Given the description of an element on the screen output the (x, y) to click on. 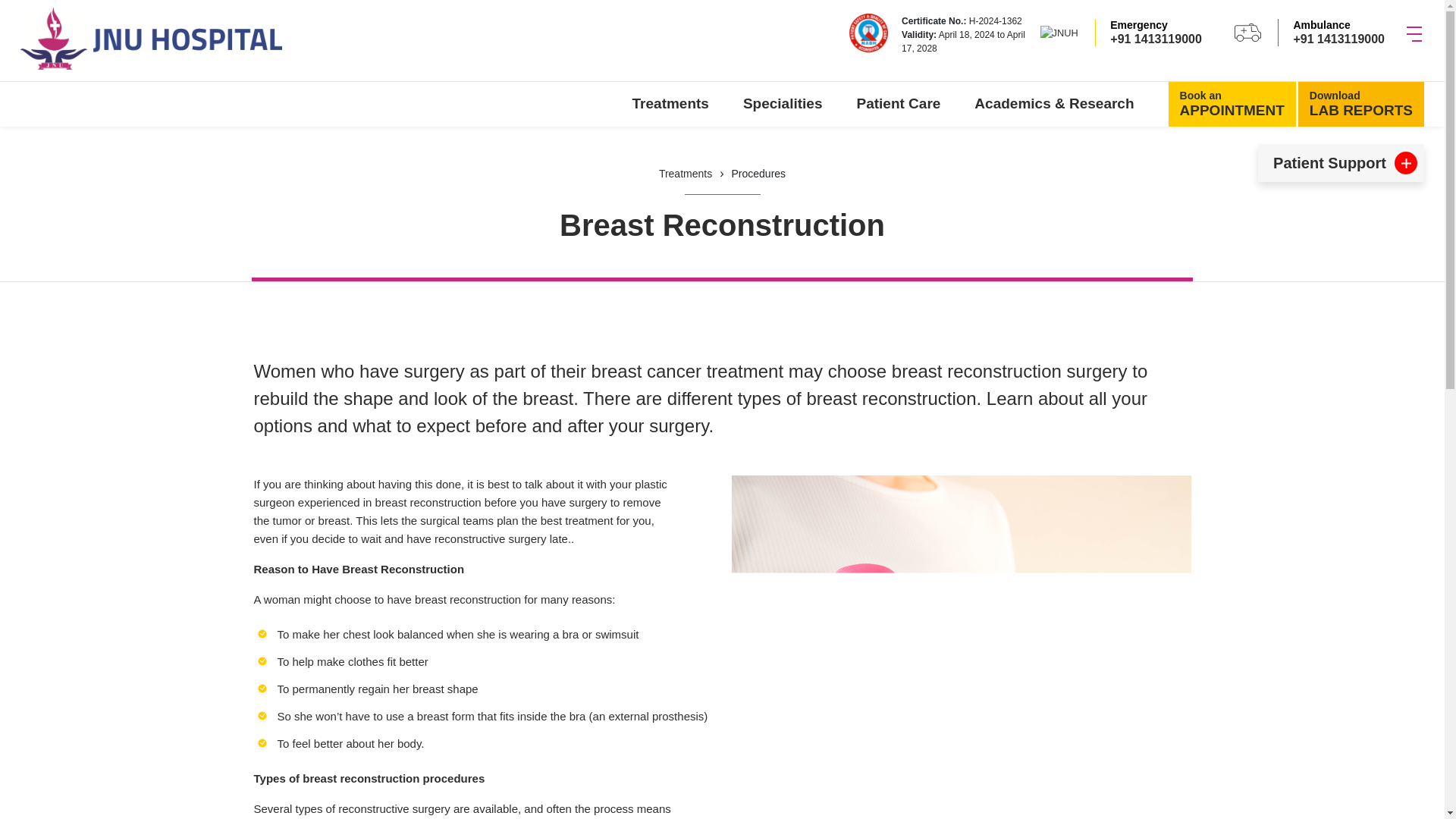
Treatments (670, 103)
